Given the description of an element on the screen output the (x, y) to click on. 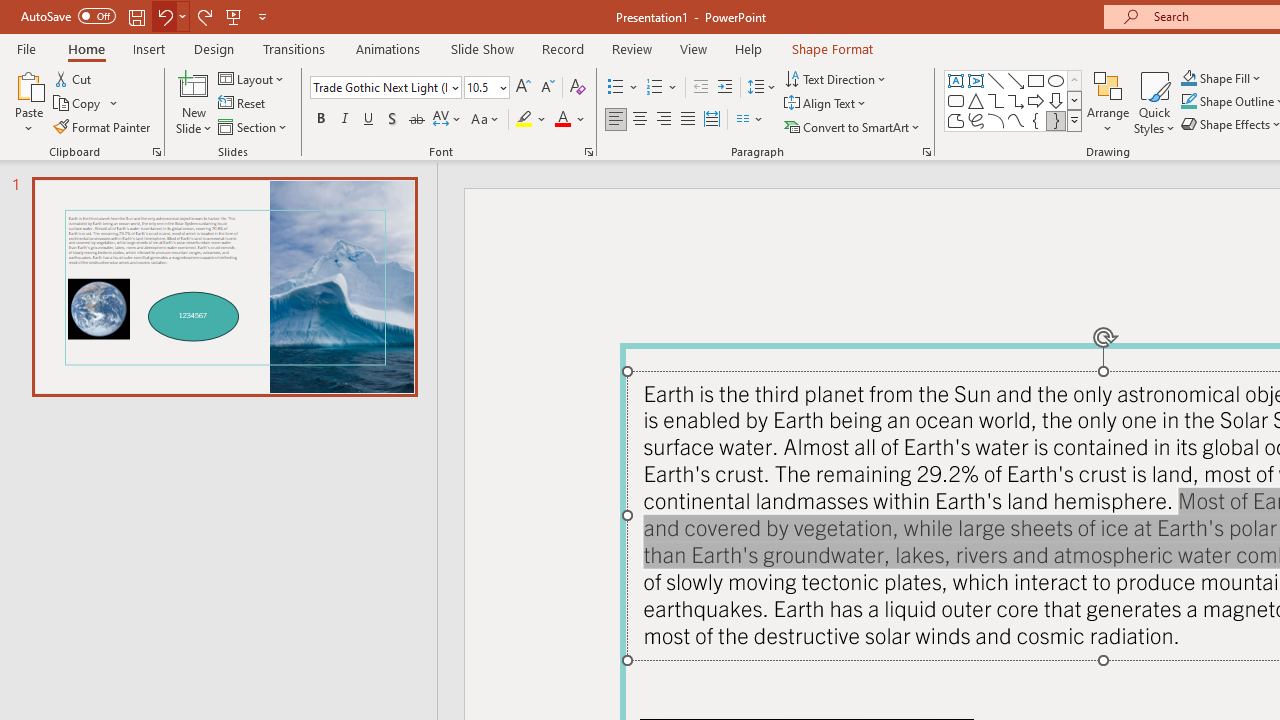
Justify (687, 119)
Change Case (486, 119)
Office Clipboard... (156, 151)
Decrease Font Size (547, 87)
Connector: Elbow (995, 100)
Shadow (392, 119)
Line Arrow (1016, 80)
Vertical Text Box (975, 80)
Row up (1074, 79)
Arrange (1108, 102)
Shapes (1074, 120)
Text Highlight Color (531, 119)
Shape Outline Teal, Accent 1 (1188, 101)
